Given the description of an element on the screen output the (x, y) to click on. 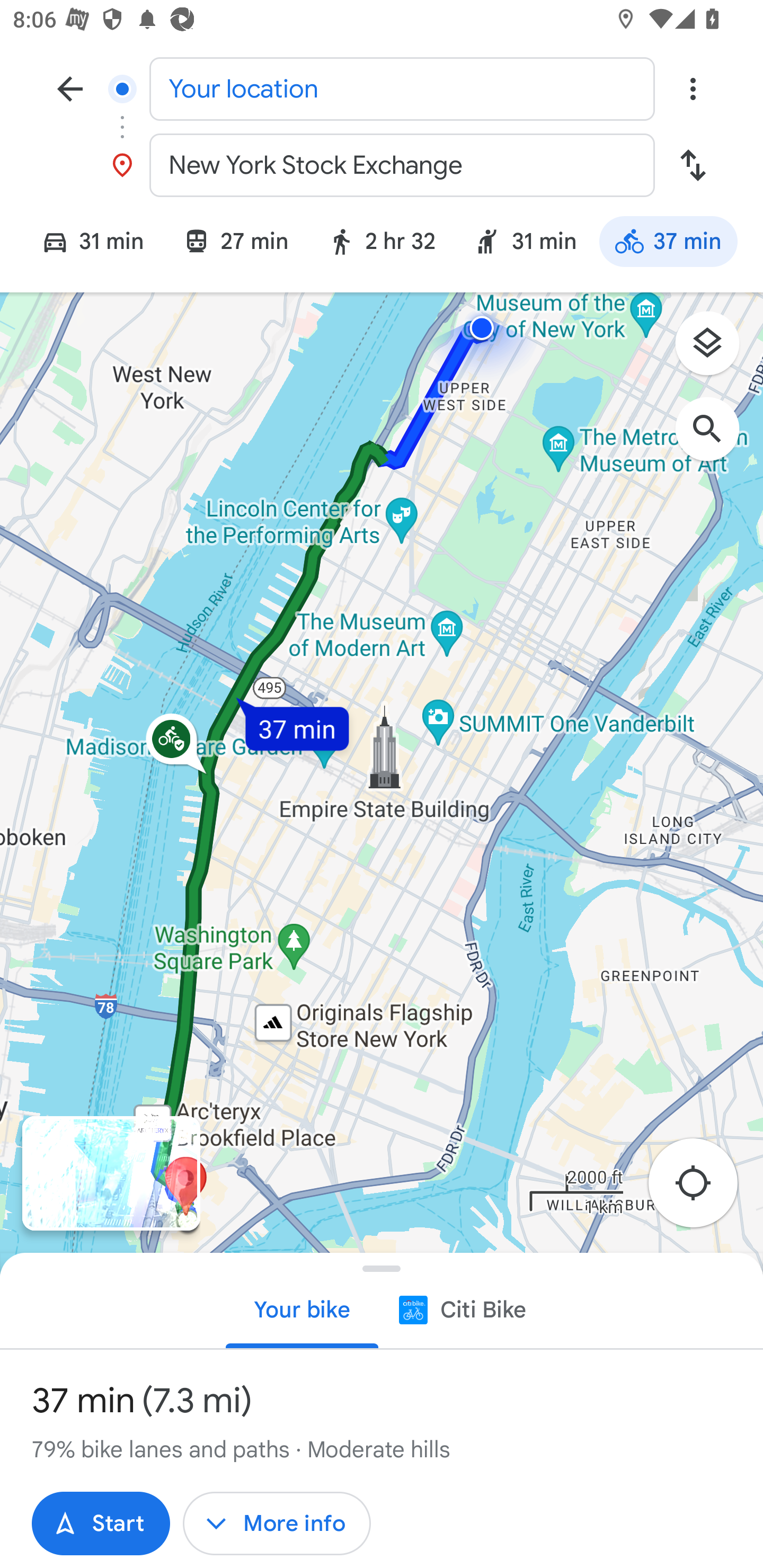
Navigate up (70, 88)
Your location Start location, Your location (381, 88)
Overflow menu (692, 88)
Swap start and destination (692, 165)
Driving mode: 31 min 31 min (84, 244)
Transit mode: 27 min 27 min (235, 244)
Walking mode: 2 hr 32 2 hr 32 (380, 244)
Ride service: 31 min 31 min (524, 244)
Layers (716, 349)
Search along route (716, 438)
Open Immersive View for routes (110, 1173)
Re-center map to your location (702, 1188)
Citi Bike (460, 1309)
More info More info More info (276, 1522)
